Given the description of an element on the screen output the (x, y) to click on. 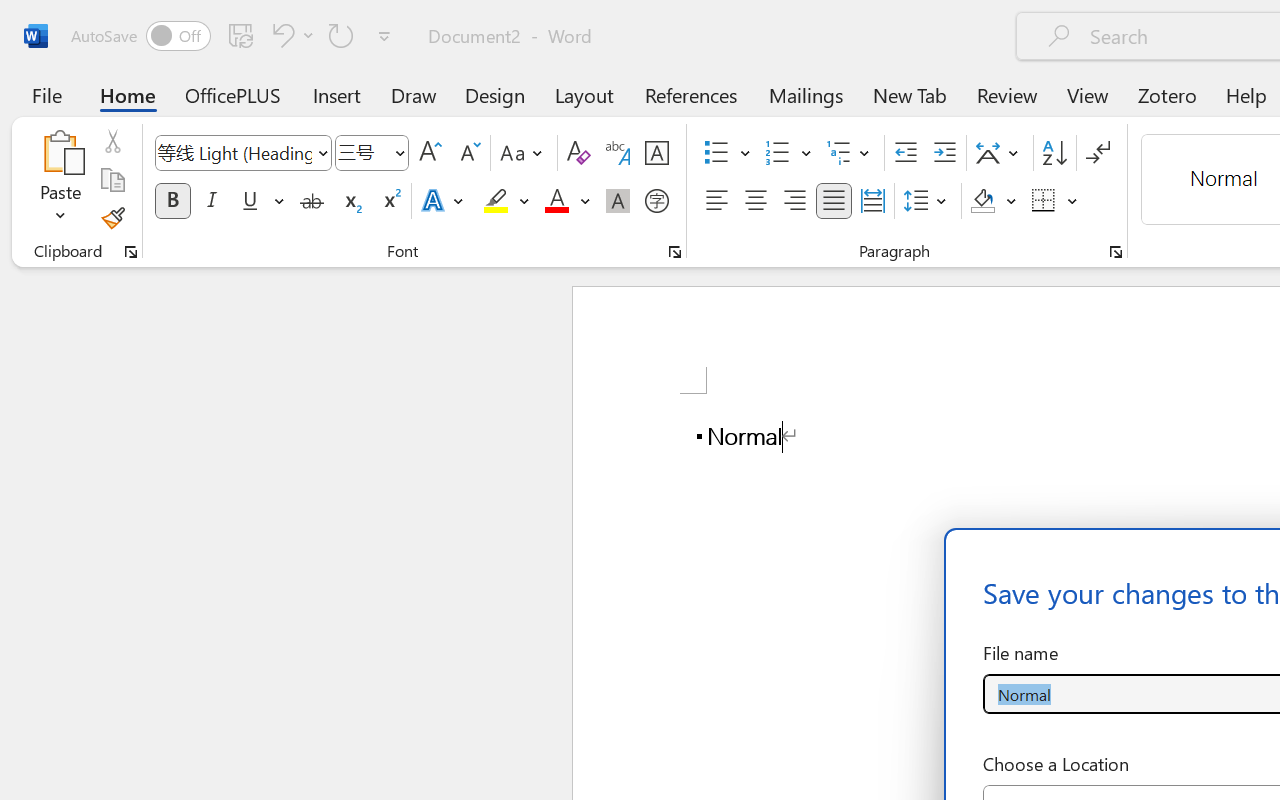
Sort... (1054, 153)
Design (495, 94)
Numbering (788, 153)
Font Size (362, 152)
Numbering (778, 153)
Superscript (390, 201)
Home (127, 94)
Decrease Indent (906, 153)
Font Size (372, 153)
Undo Typing (280, 35)
Line and Paragraph Spacing (927, 201)
Zotero (1166, 94)
Justify (834, 201)
Open (399, 152)
